Given the description of an element on the screen output the (x, y) to click on. 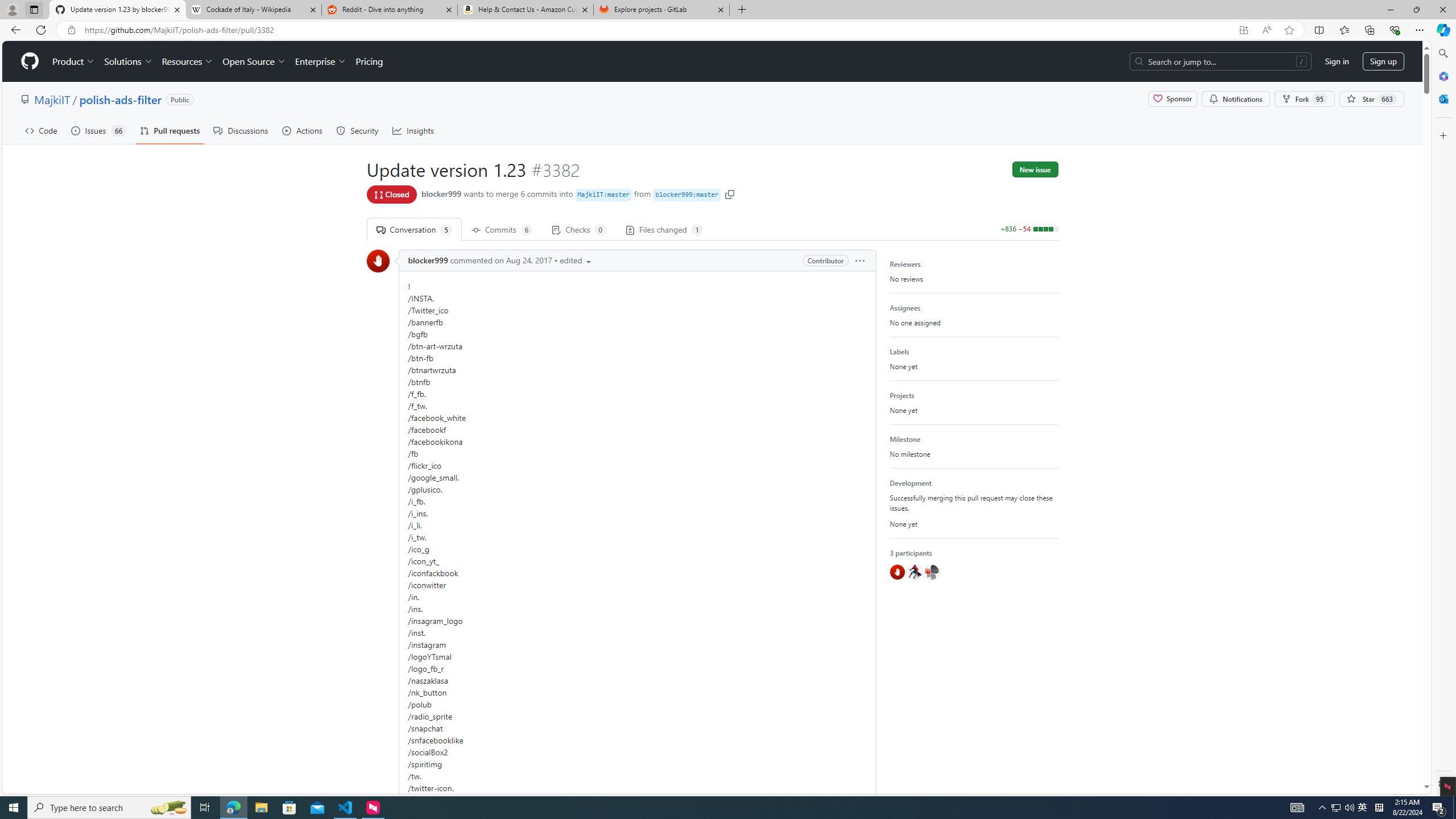
Sign up (1382, 61)
Insights (413, 130)
You must be signed in to change notification settings (1235, 98)
Actions (302, 130)
blocker999 (378, 260)
@MajkiIT (931, 572)
Show options (859, 260)
Show options (859, 260)
 Files changed 1 (663, 228)
Open Source (254, 60)
